Given the description of an element on the screen output the (x, y) to click on. 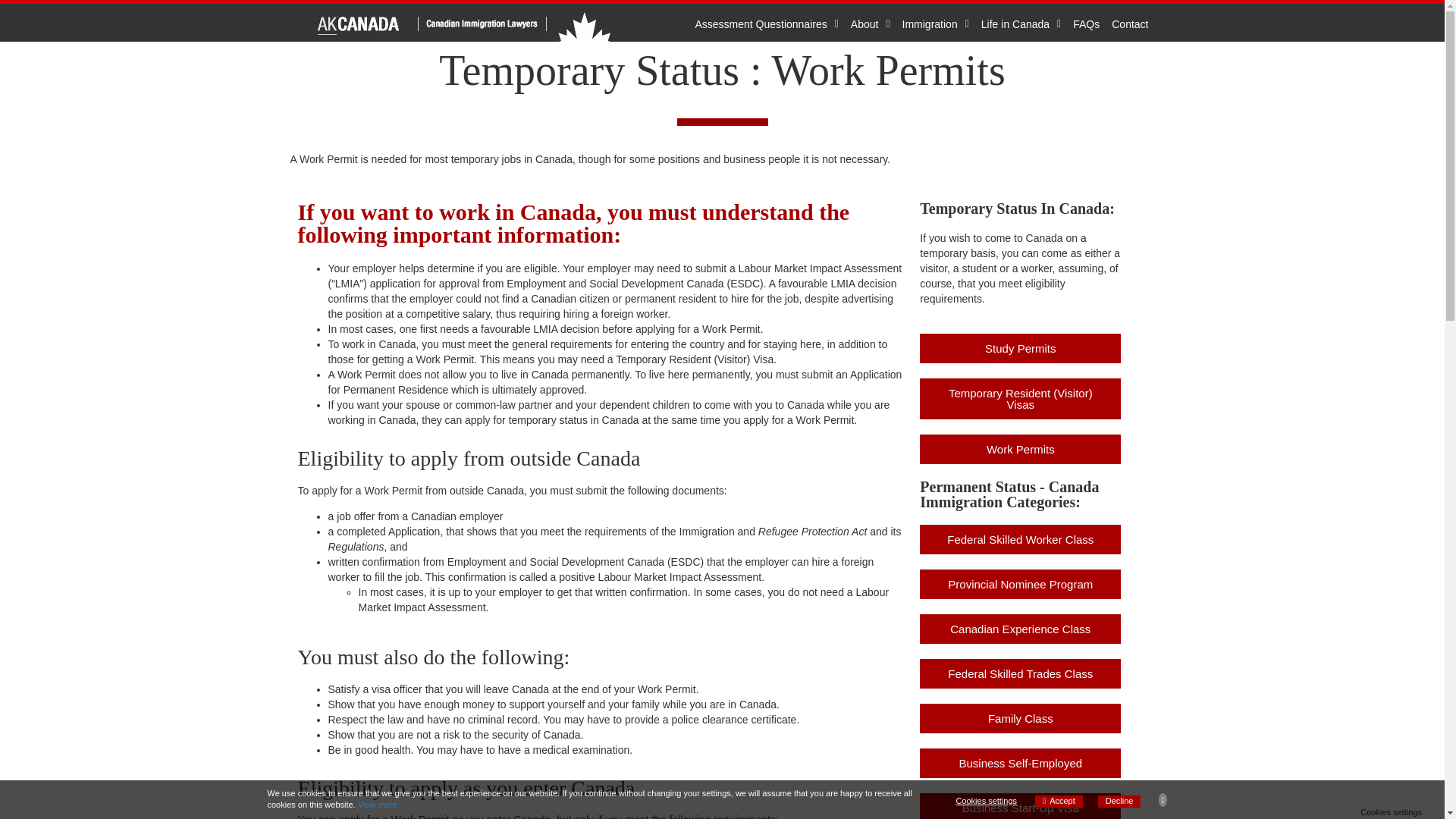
Contact (1129, 23)
Immigration (935, 23)
Federal Skilled Worker Class (1020, 539)
Canadian Experience Class (1020, 628)
Federal Skilled Trades Class (1020, 673)
Life in Canada (1021, 23)
About (870, 23)
Business Start-Up Visa (1020, 806)
Work Permits (1020, 449)
Family Class (1020, 718)
Study Permits (1020, 348)
FAQs (1086, 23)
Provincial Nominee Program (1020, 583)
Business Self-Employed (1020, 763)
Assessment Questionnaires (766, 23)
